Given the description of an element on the screen output the (x, y) to click on. 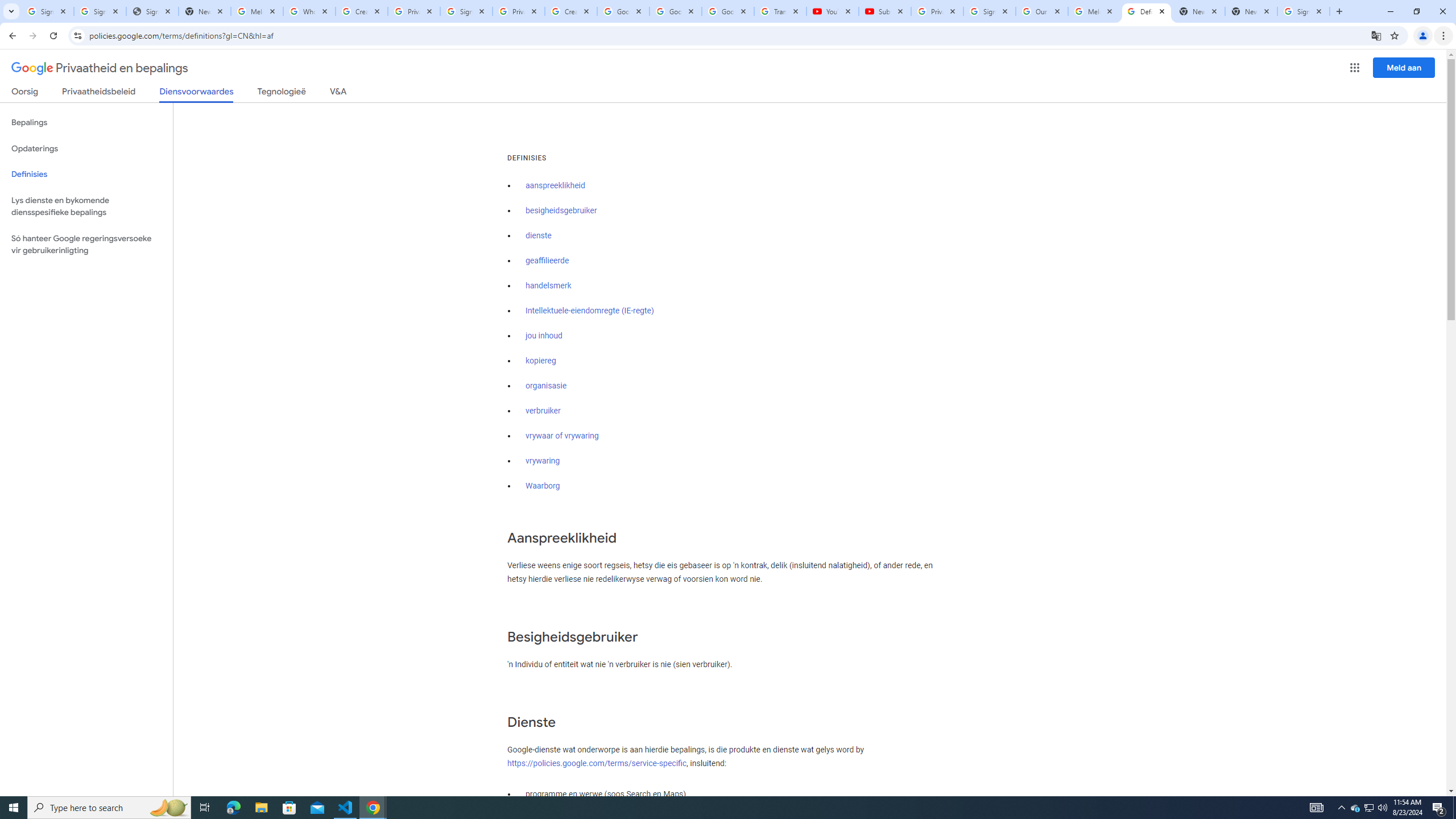
Waarborg (542, 486)
Bepalings (86, 122)
Subscriptions - YouTube (884, 11)
New Tab (1251, 11)
jou inhoud (543, 335)
Oorsig (25, 93)
besigheidsgebruiker (560, 210)
Create your Google Account (361, 11)
